Given the description of an element on the screen output the (x, y) to click on. 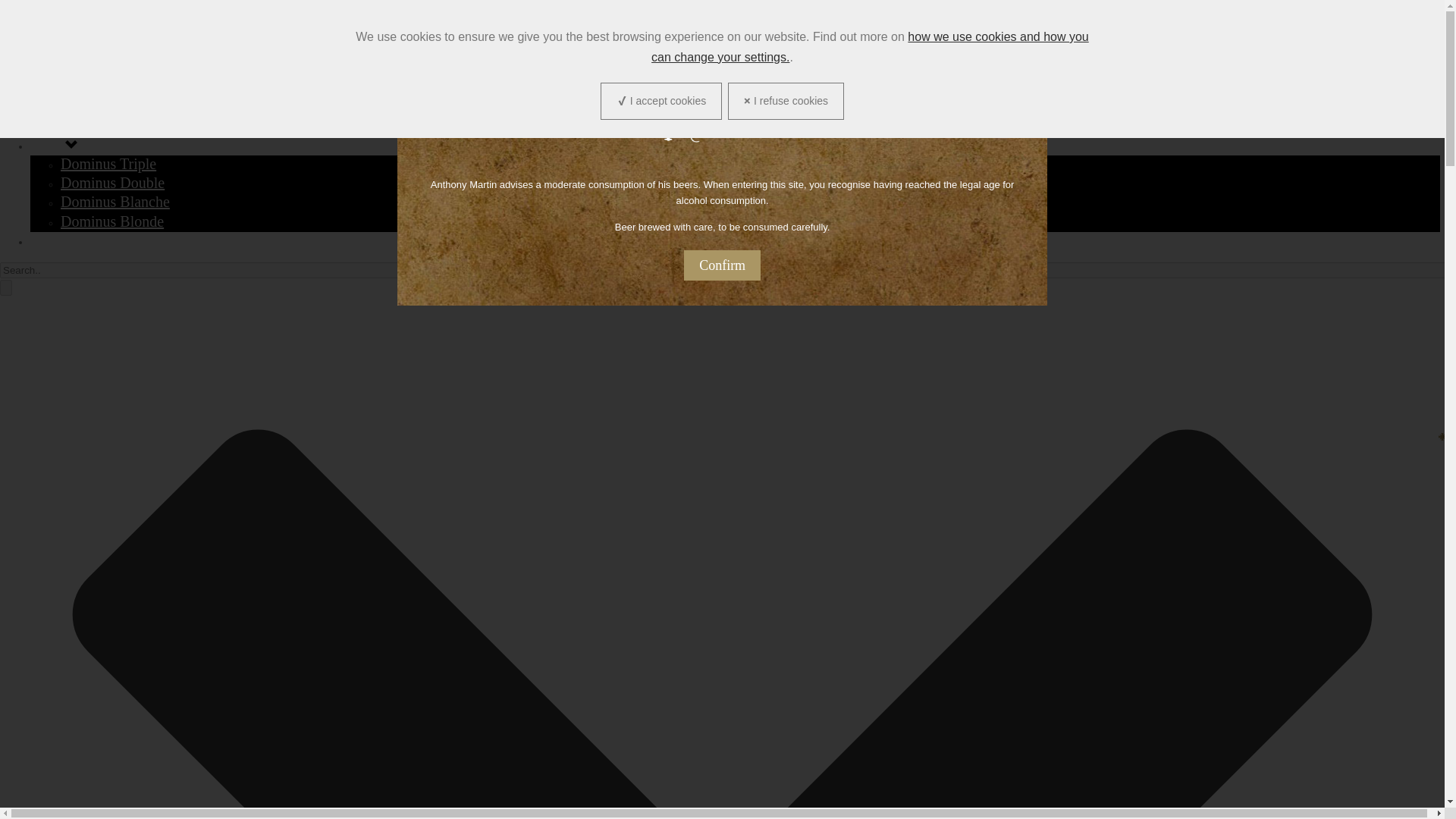
Home (48, 86)
IT (1250, 34)
FR (1199, 34)
EN (1172, 34)
Brewing (56, 125)
how we use cookies and how you can change your settings. (869, 46)
Dominus Double (112, 182)
Brewing (56, 125)
Dominus Double (112, 182)
Dominus Blonde (112, 221)
